Given the description of an element on the screen output the (x, y) to click on. 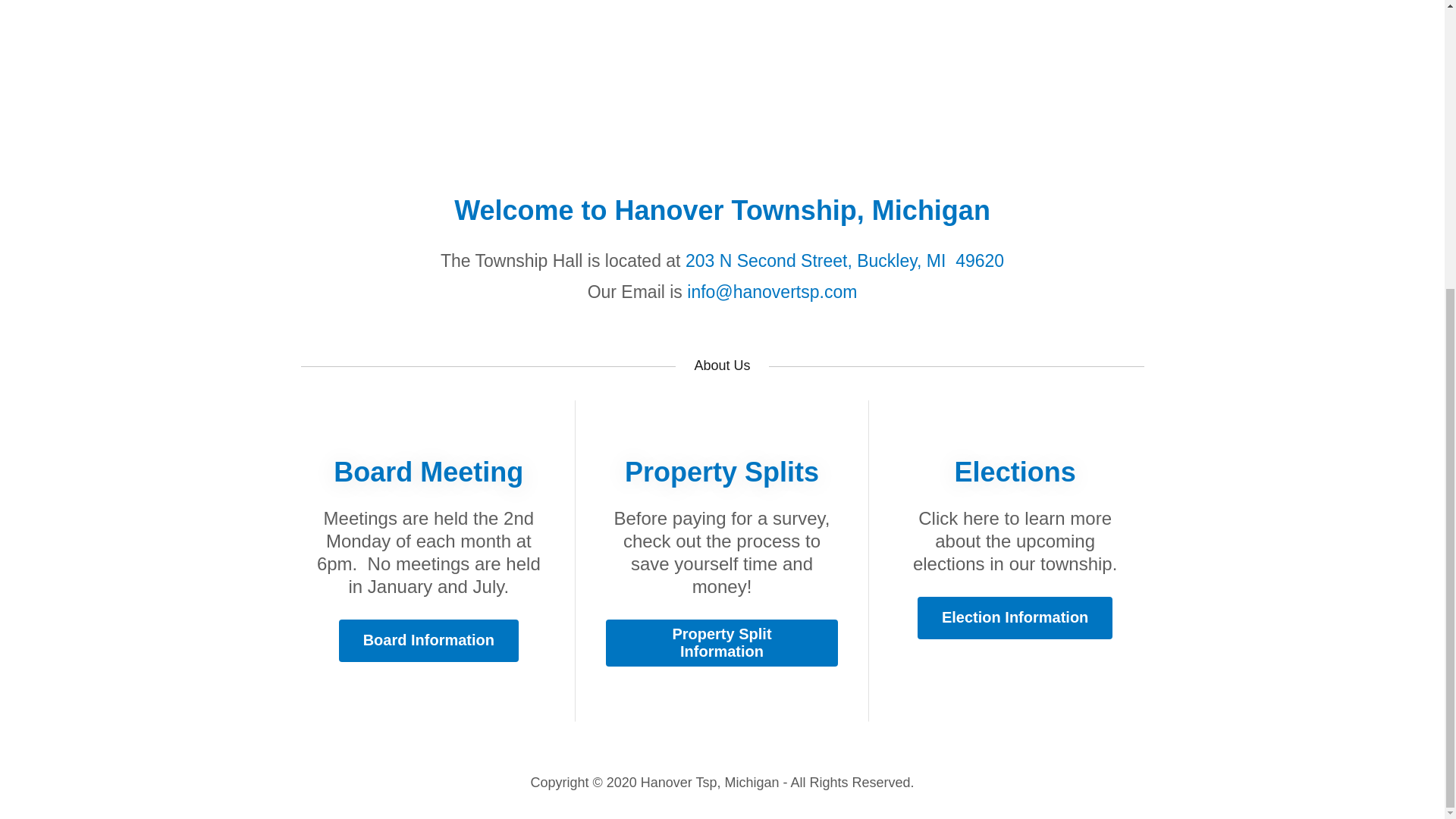
Board Information (428, 640)
Property Split Information (721, 642)
203 N Second Street, Buckley, MI  49620 (844, 260)
Election Information (1014, 618)
